Given the description of an element on the screen output the (x, y) to click on. 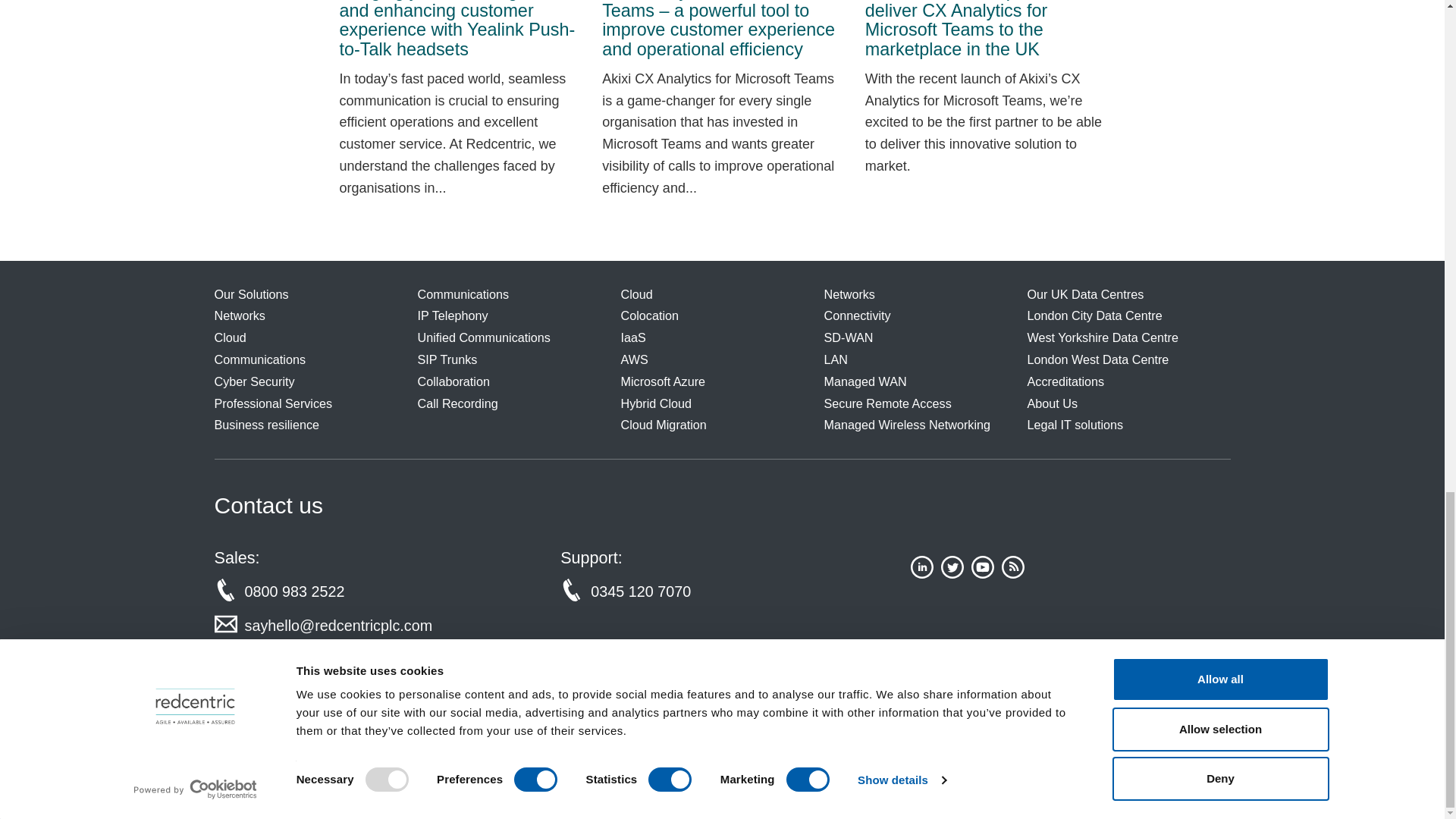
linkedin (922, 573)
